Given the description of an element on the screen output the (x, y) to click on. 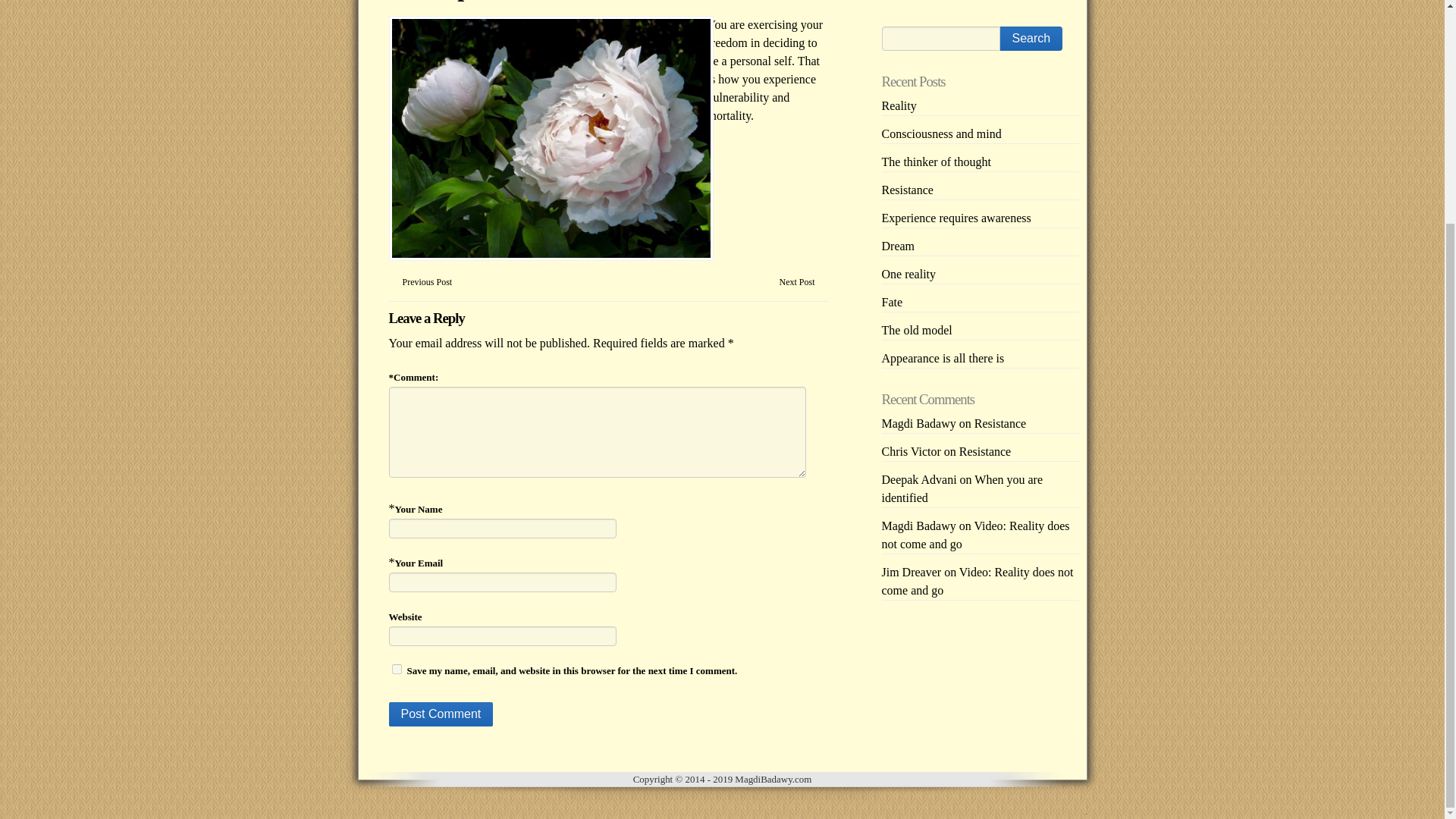
Next Post (795, 281)
The thinker of thought (935, 161)
Resistance (984, 451)
Jim Dreaver (910, 571)
Appearance is all there is (942, 358)
yes (396, 669)
Consciousness and mind (940, 133)
Experience requires awareness (955, 217)
When you are identified (961, 488)
The old model (916, 329)
One reality (908, 273)
Fate (891, 301)
Video: Reality does not come and go (974, 534)
Resistance (1000, 422)
Resistance (906, 189)
